Given the description of an element on the screen output the (x, y) to click on. 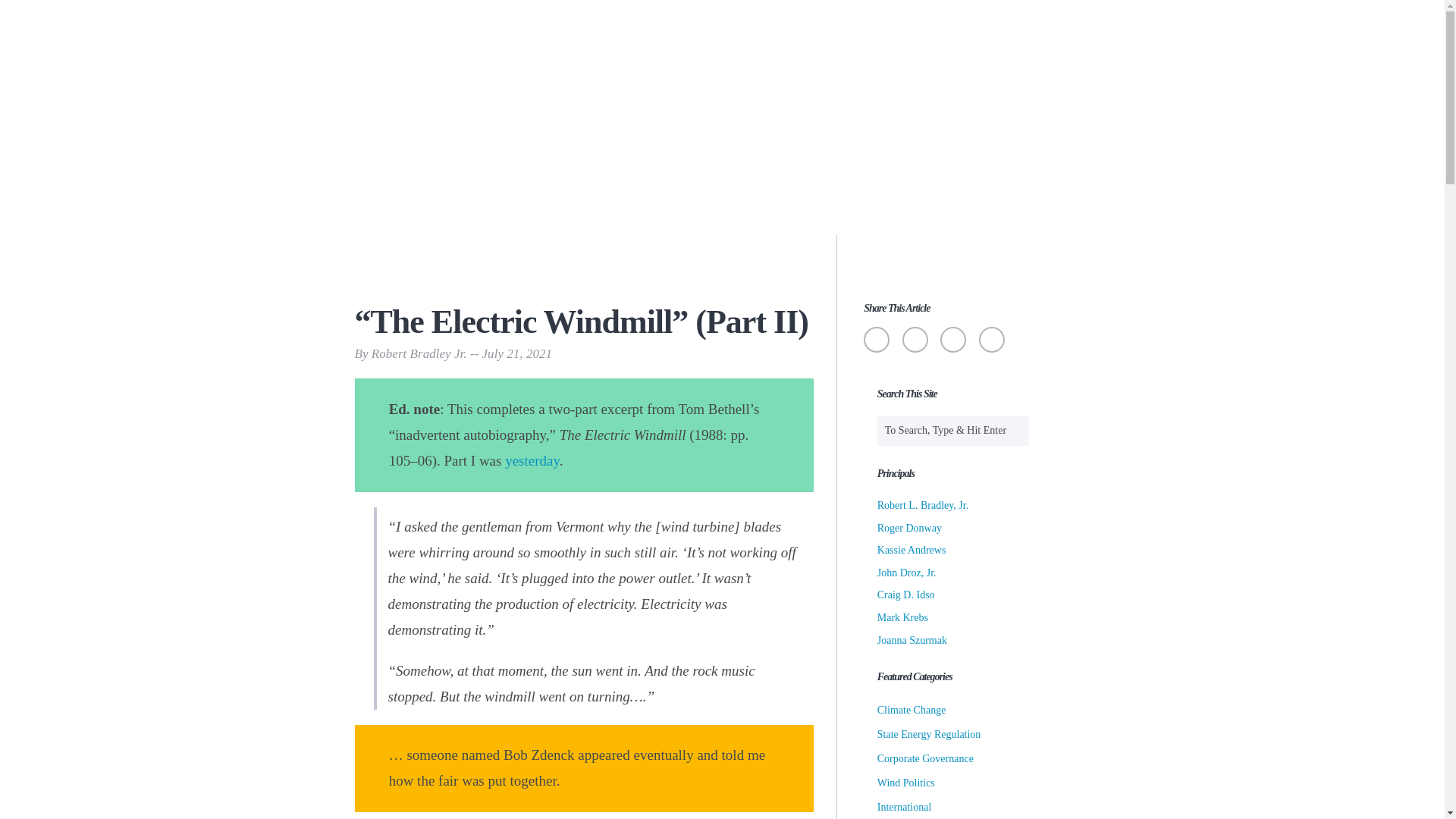
Corporate Governance (925, 758)
International (904, 807)
CATEGORIES (612, 212)
Joanna Szurmak (912, 640)
State Energy Regulation (929, 734)
ARCHIVES (954, 212)
ABOUT (471, 212)
Climate Change (911, 709)
Wind Politics (905, 782)
READING LIST (790, 212)
